Given the description of an element on the screen output the (x, y) to click on. 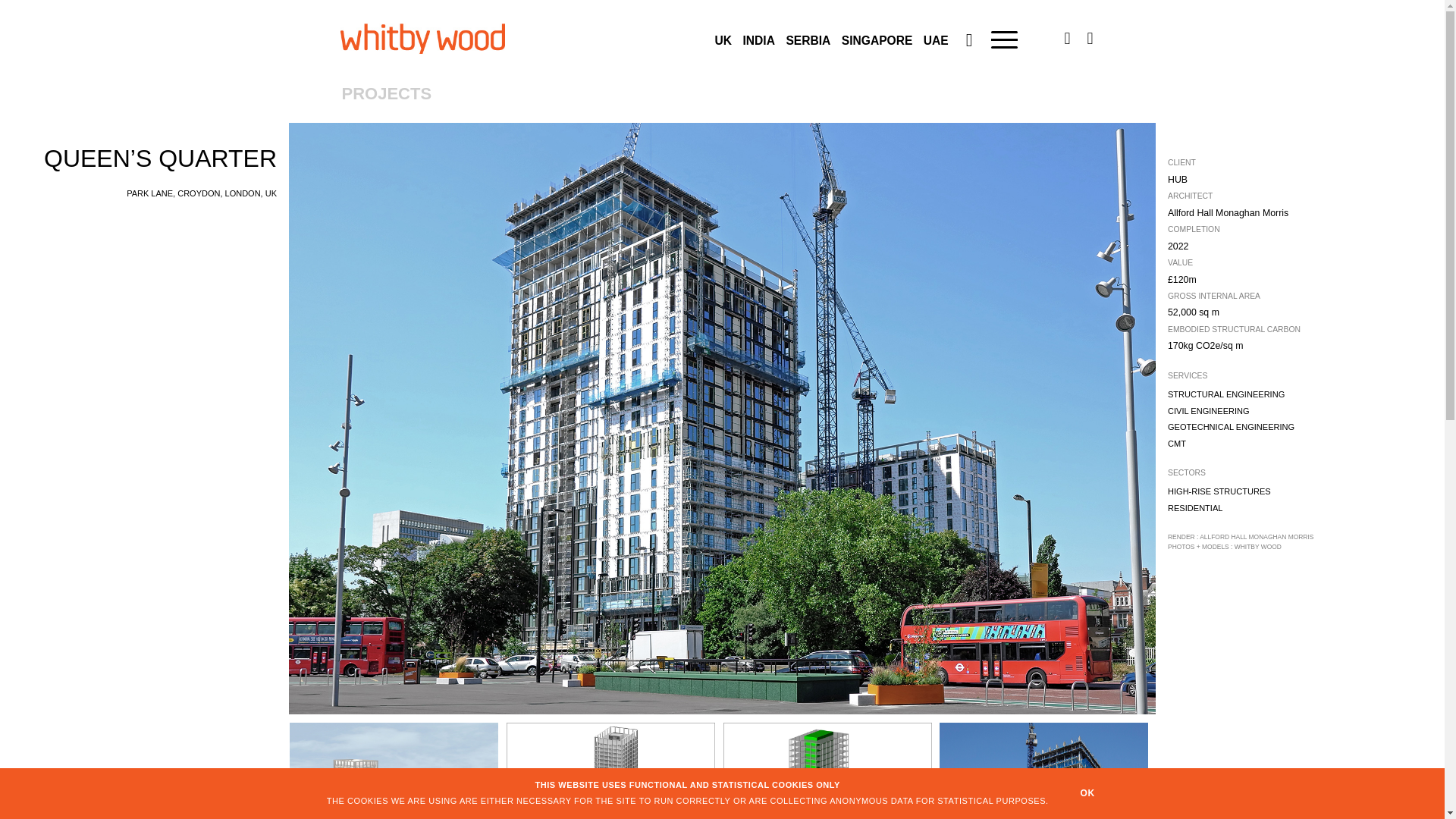
SERBIA (807, 40)
Instagram (1089, 38)
UK (723, 40)
INDIA (758, 40)
SINGAPORE (876, 40)
PROJECTS (371, 94)
LinkedIn (1066, 38)
UAE (936, 40)
